Given the description of an element on the screen output the (x, y) to click on. 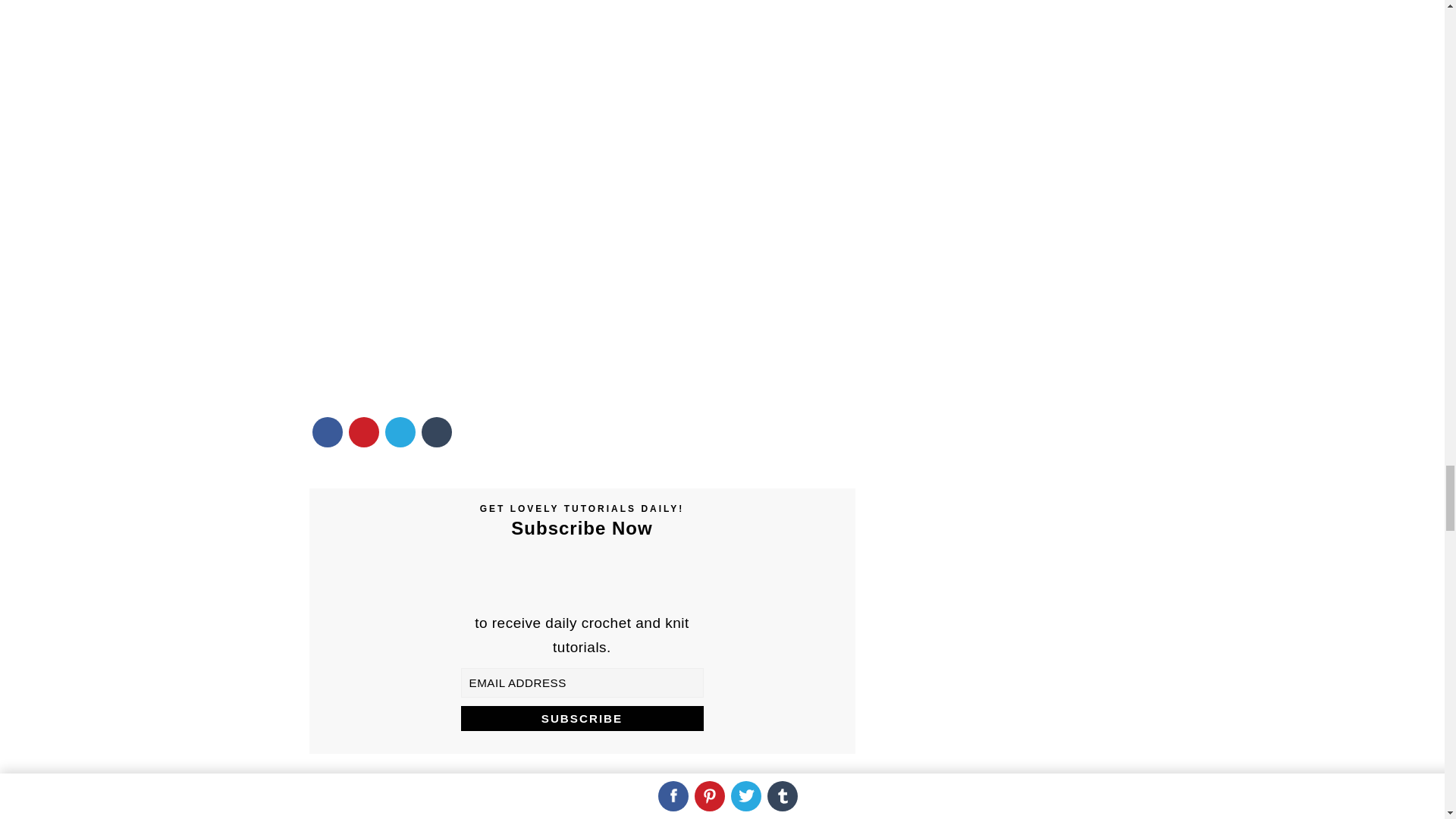
Subscribe (582, 718)
